Given the description of an element on the screen output the (x, y) to click on. 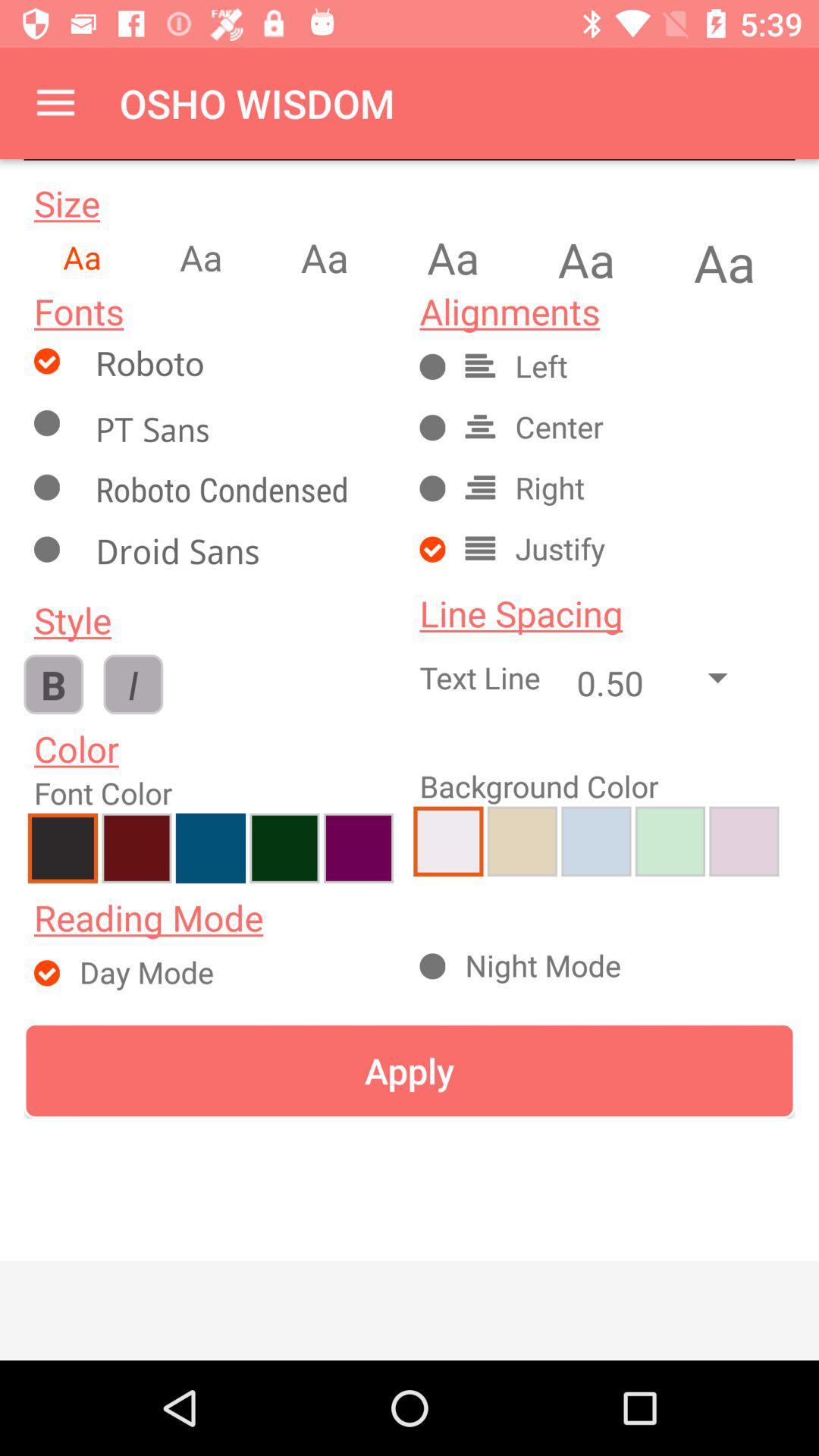
choose the green font color (284, 848)
